Given the description of an element on the screen output the (x, y) to click on. 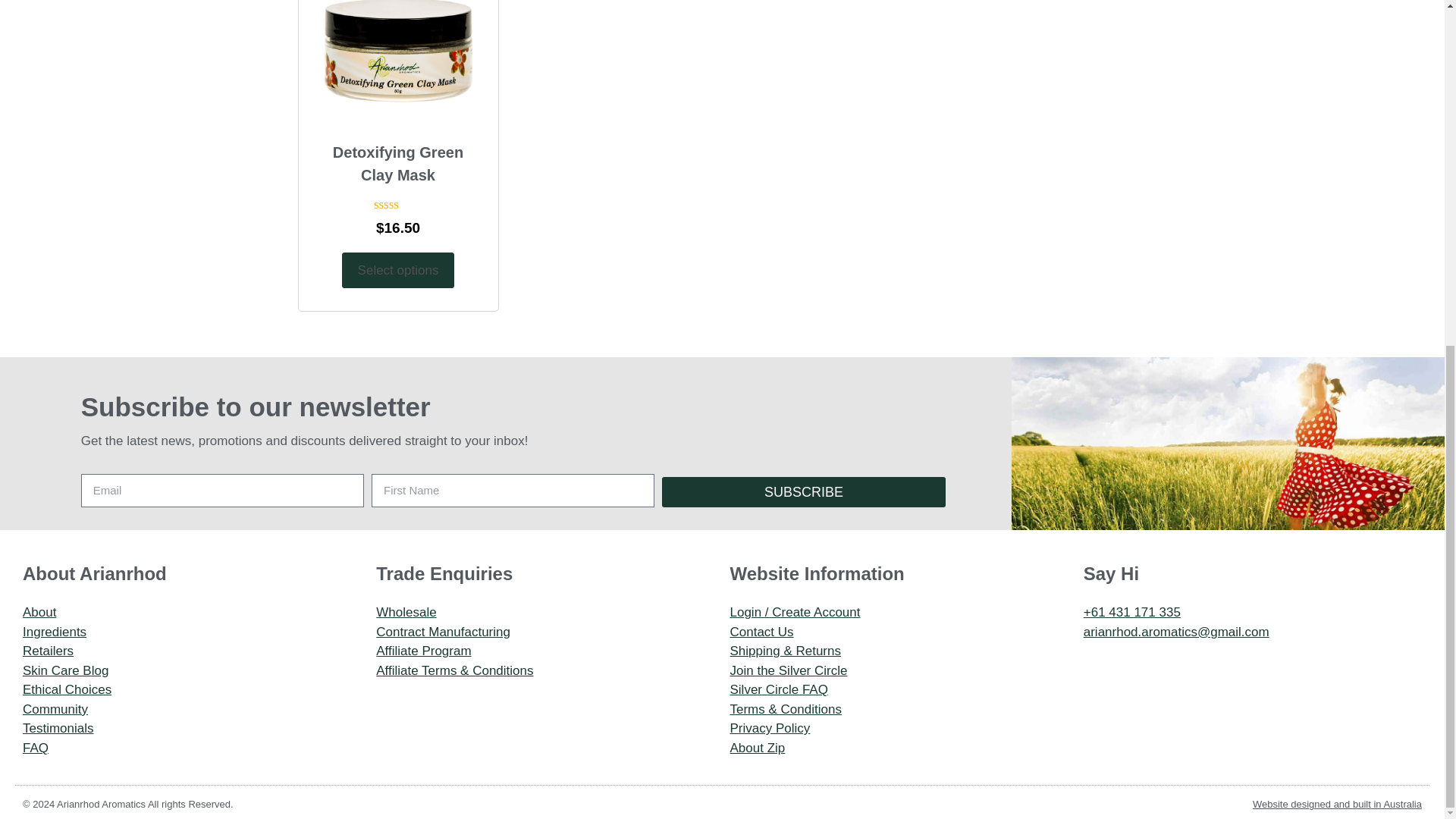
Rated 5.00 out of 5 (398, 204)
